Given the description of an element on the screen output the (x, y) to click on. 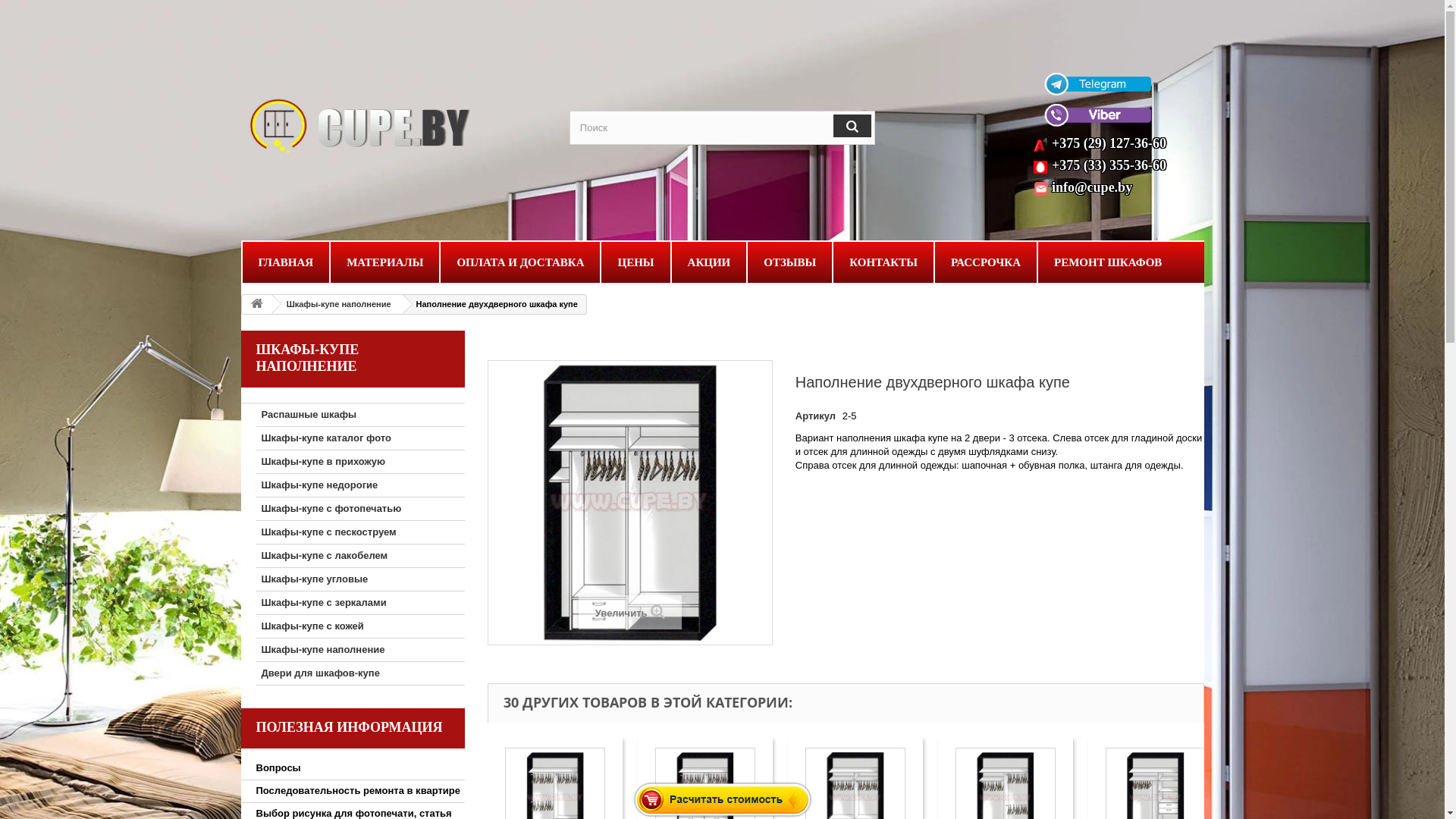
+375 (33) 355-36-60 Element type: text (1108, 164)
info@cupe.by Element type: text (1091, 186)
+375 (29) 127-36-60 Element type: text (1108, 142)
